Given the description of an element on the screen output the (x, y) to click on. 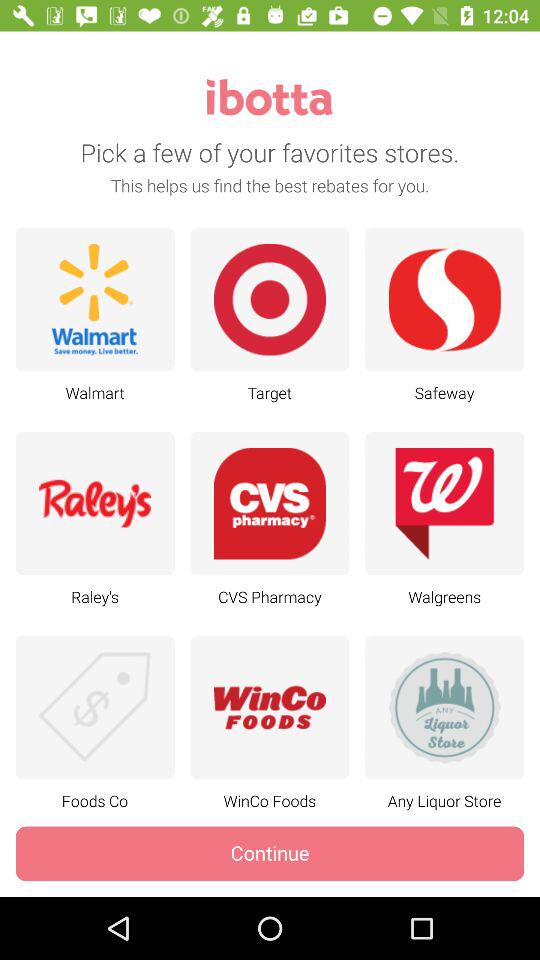
turn off continue icon (269, 853)
